Given the description of an element on the screen output the (x, y) to click on. 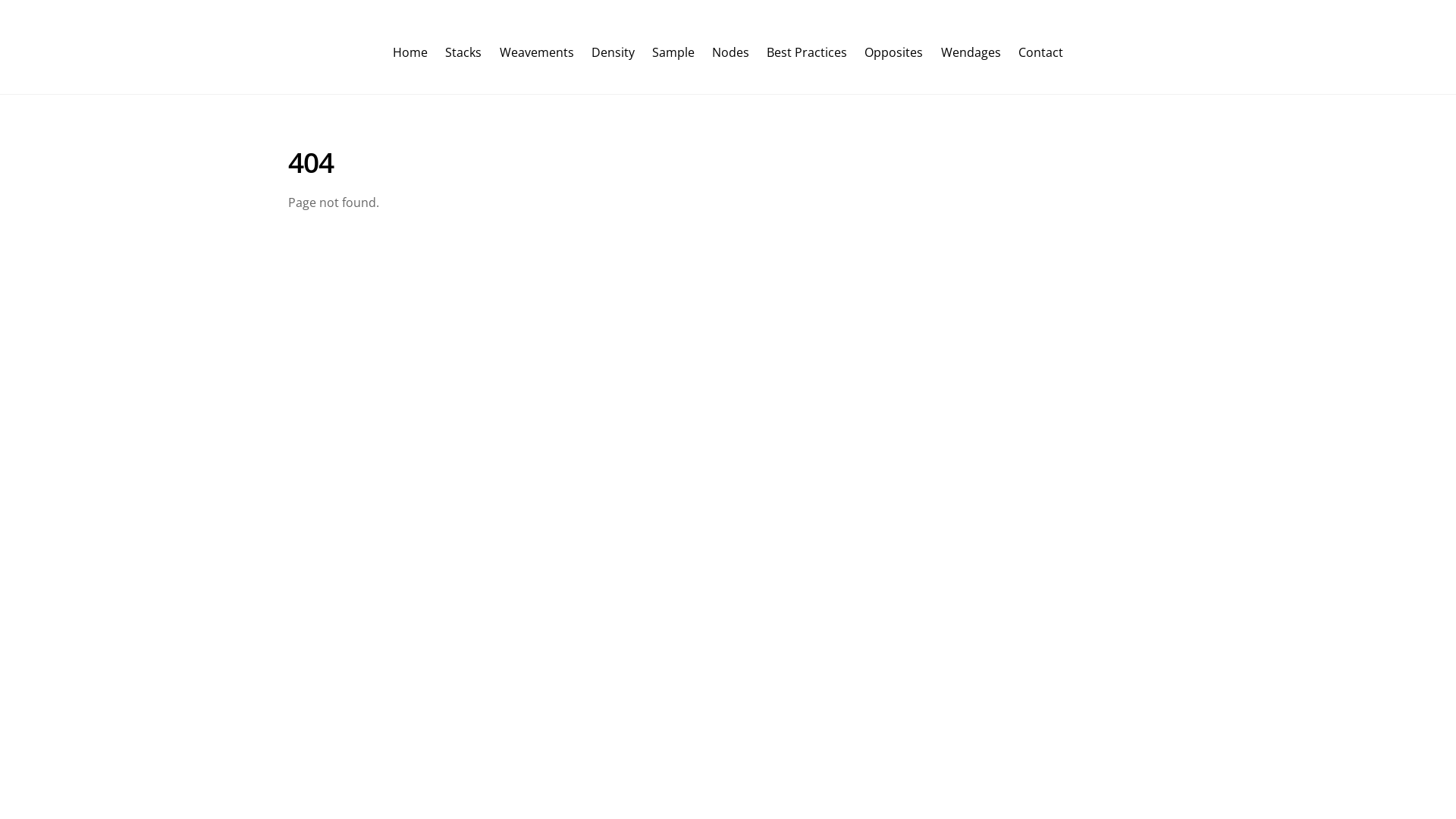
Stacks Element type: text (463, 51)
Best Practices Element type: text (806, 51)
Weavements Element type: text (536, 51)
Nodes Element type: text (730, 51)
Wendages Element type: text (970, 51)
Sample Element type: text (672, 51)
Home Element type: text (410, 51)
Density Element type: text (612, 51)
Opposites Element type: text (893, 51)
Contact Element type: text (1040, 51)
